Given the description of an element on the screen output the (x, y) to click on. 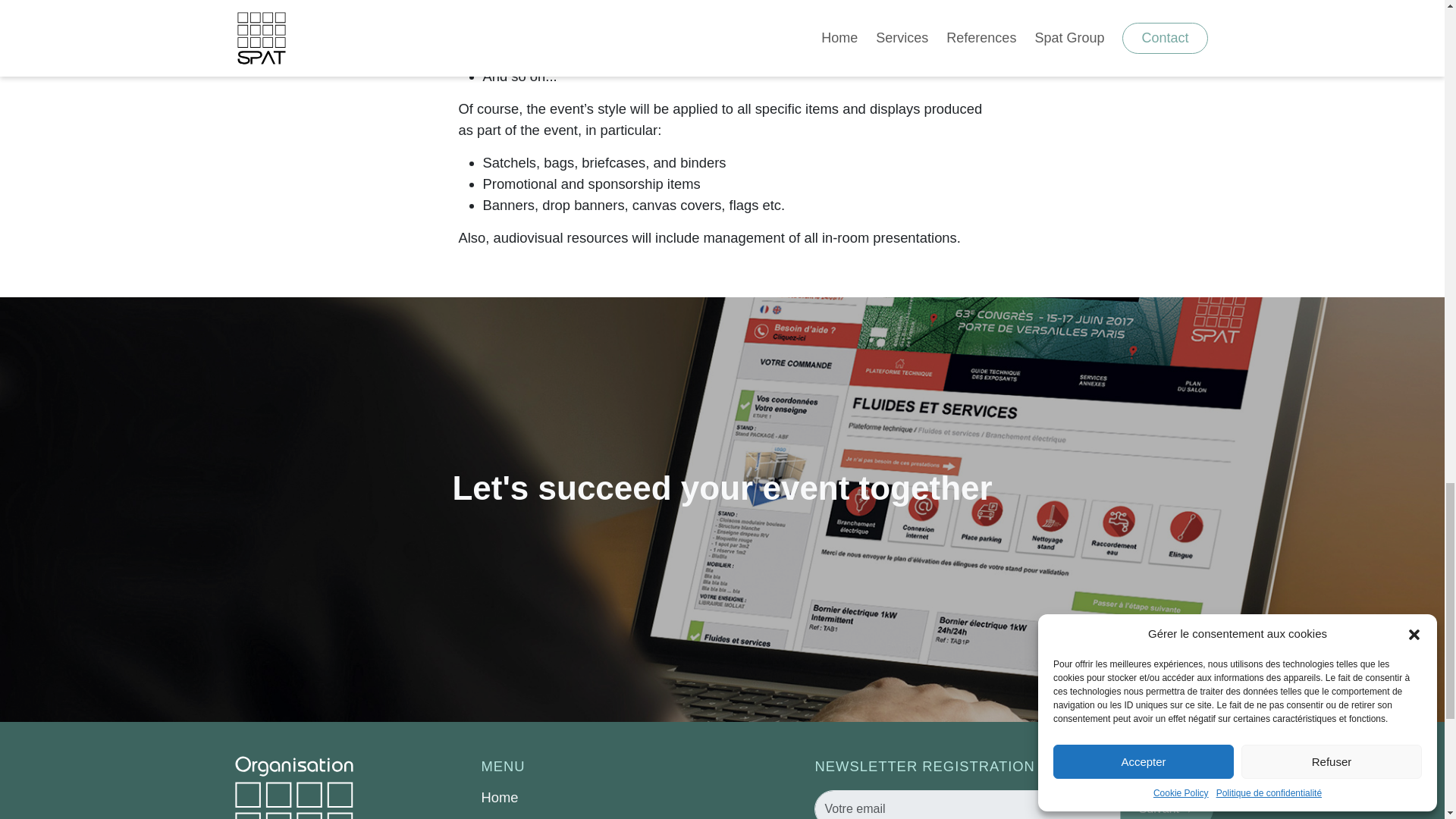
Suivant (1166, 804)
Home (596, 797)
Services (596, 816)
